Given the description of an element on the screen output the (x, y) to click on. 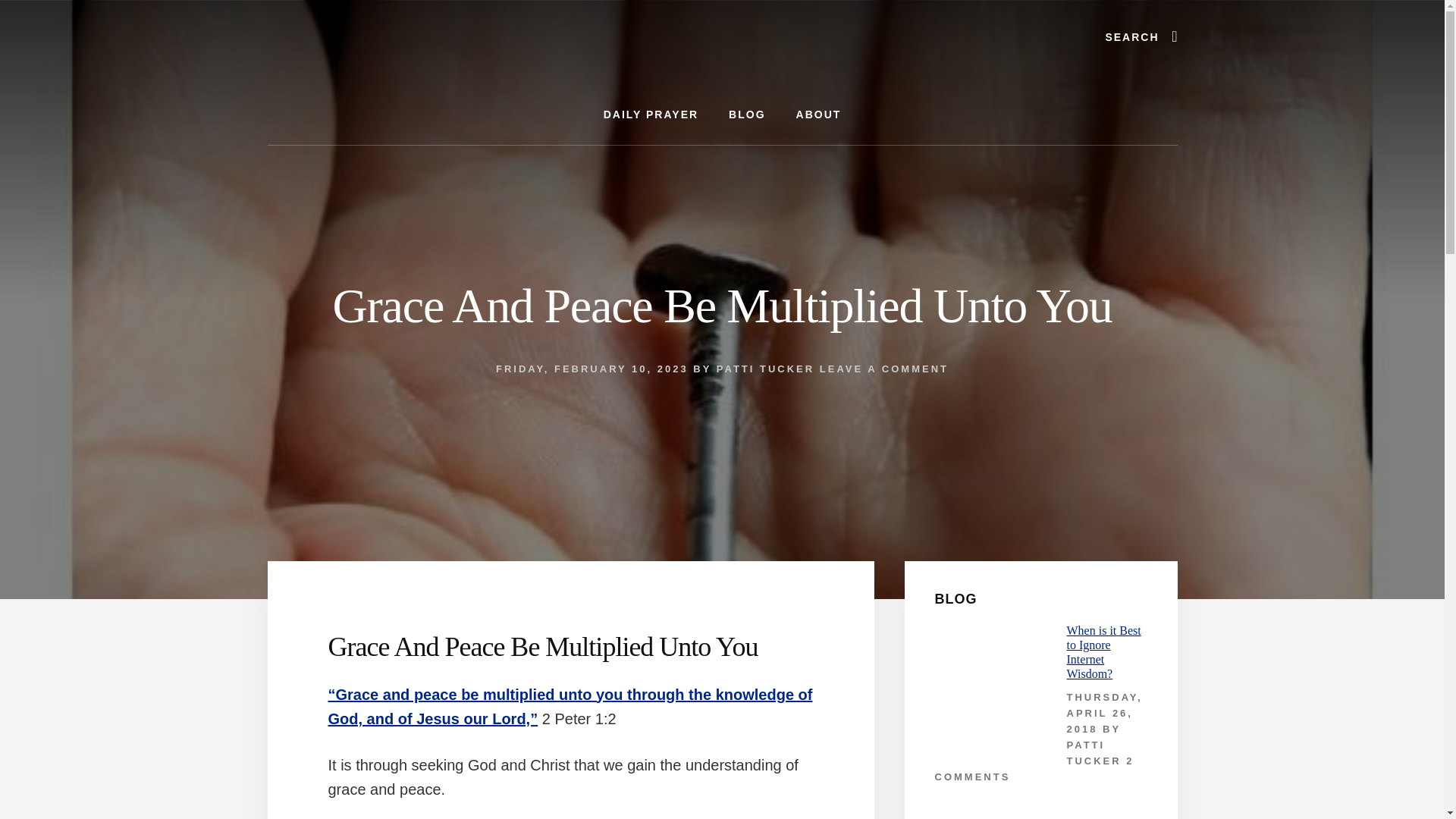
When is it Best to Ignore Internet Wisdom? (1102, 652)
PATTI TUCKER (1093, 752)
DAILY PRAYER (650, 114)
ABOUT (818, 114)
PATTI TUCKER (764, 368)
2 COMMENTS (1034, 768)
LEAVE A COMMENT (884, 368)
BLOG (746, 114)
